Given the description of an element on the screen output the (x, y) to click on. 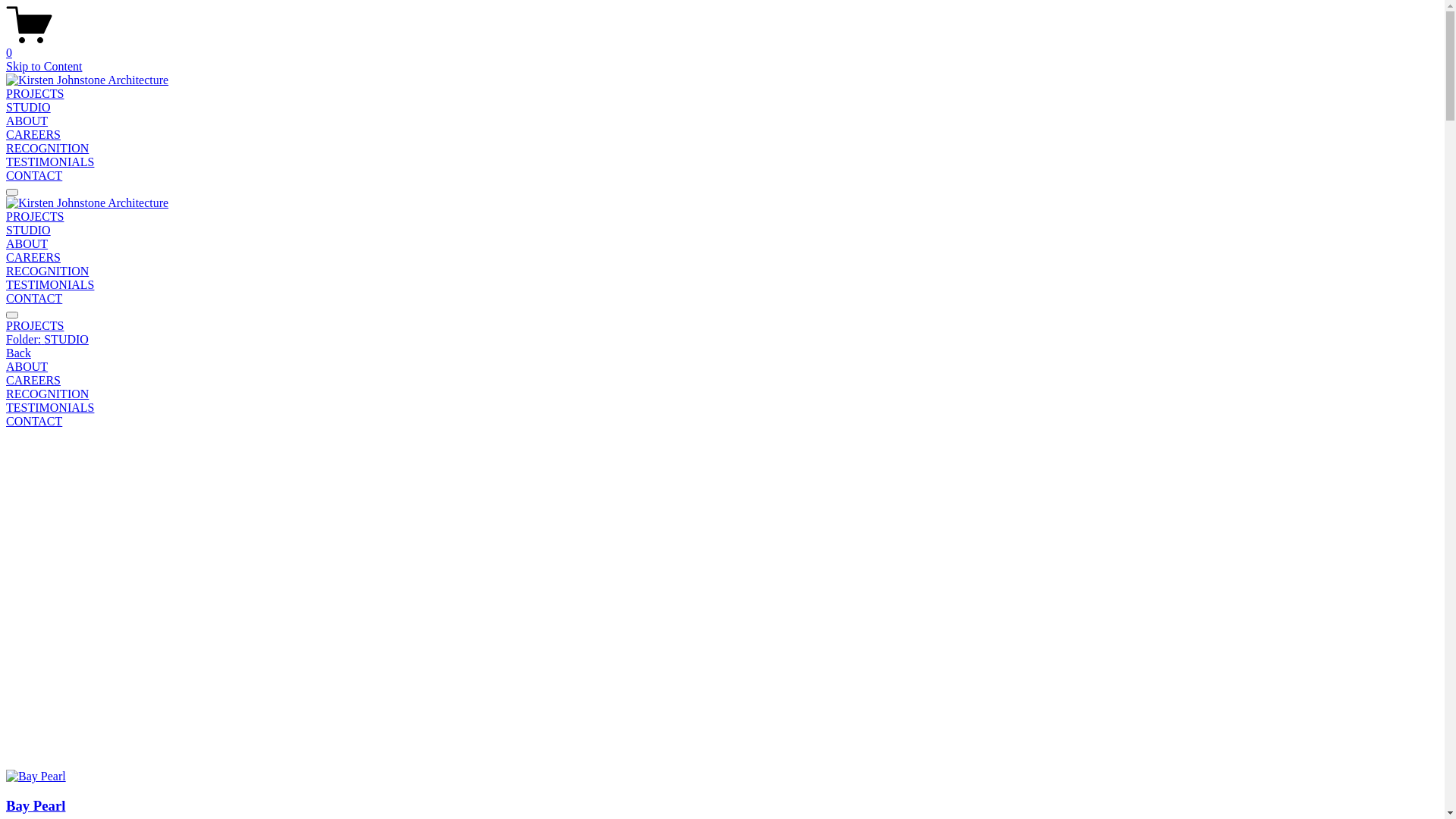
CONTACT Element type: text (34, 297)
ABOUT Element type: text (26, 243)
CAREERS Element type: text (33, 134)
CAREERS Element type: text (722, 380)
Skip to Content Element type: text (43, 65)
TESTIMONIALS Element type: text (50, 161)
ABOUT Element type: text (26, 120)
CONTACT Element type: text (34, 175)
CONTACT Element type: text (722, 421)
TESTIMONIALS Element type: text (50, 284)
ABOUT Element type: text (722, 366)
PROJECTS Element type: text (34, 216)
STUDIO Element type: text (28, 229)
PROJECTS Element type: text (34, 93)
CAREERS Element type: text (33, 257)
0 Element type: text (722, 45)
RECOGNITION Element type: text (47, 270)
RECOGNITION Element type: text (47, 147)
Back Element type: text (18, 352)
TESTIMONIALS Element type: text (722, 407)
PROJECTS Element type: text (722, 325)
Bay Pearl Element type: text (722, 791)
Folder: STUDIO Element type: text (722, 339)
RECOGNITION Element type: text (722, 394)
STUDIO Element type: text (28, 106)
